Given the description of an element on the screen output the (x, y) to click on. 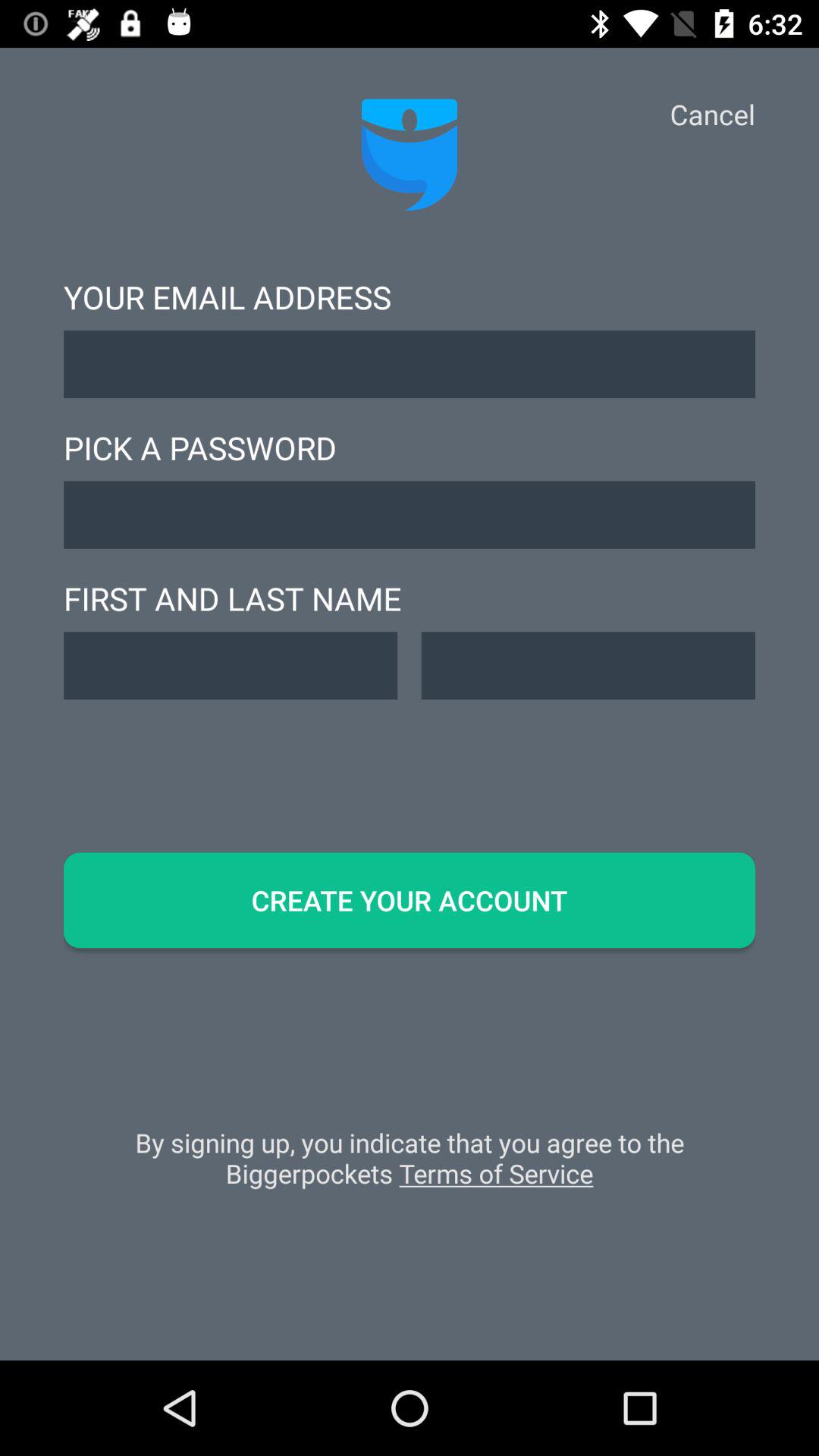
swipe until the by signing up icon (409, 1165)
